Given the description of an element on the screen output the (x, y) to click on. 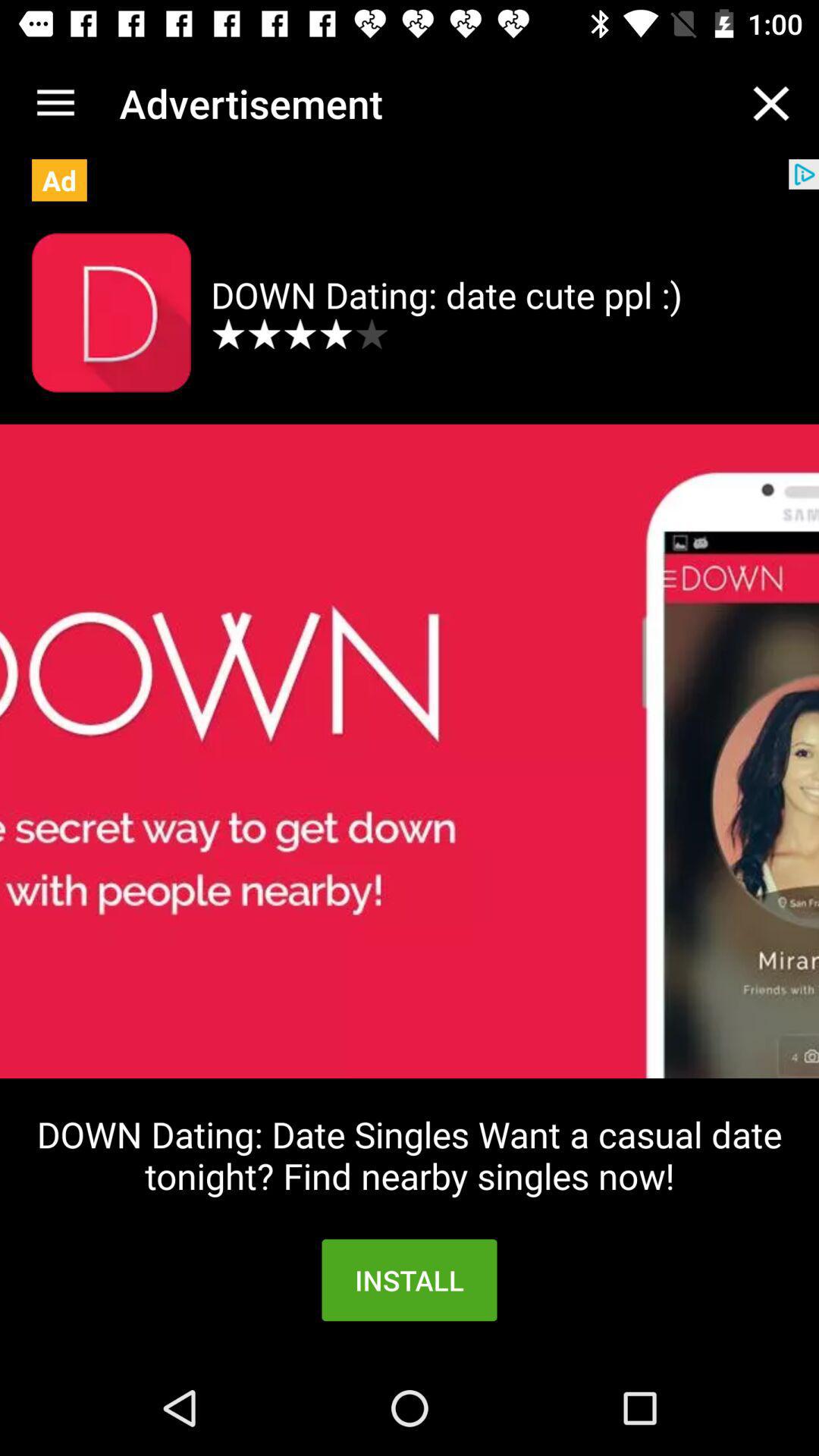
press the icon next to the advertisement icon (55, 103)
